Given the description of an element on the screen output the (x, y) to click on. 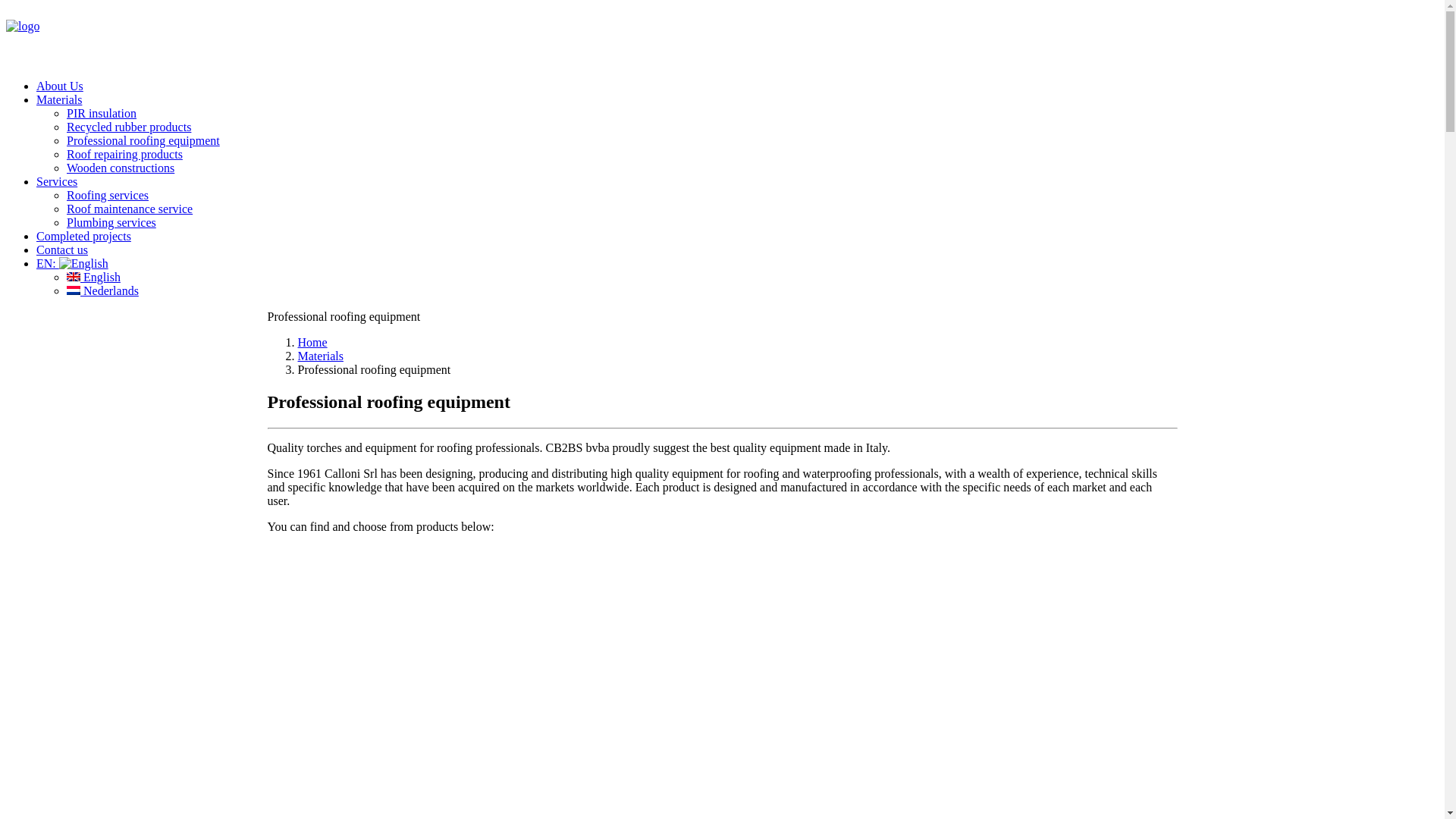
Roofing services Element type: text (107, 194)
 Nederlands Element type: text (102, 290)
About Us Element type: text (59, 85)
Contact us Element type: text (61, 249)
PIR insulation Element type: text (101, 112)
Professional roofing equipment Element type: text (142, 140)
Home Element type: text (311, 341)
EN:  Element type: text (72, 263)
Completed projects Element type: text (83, 235)
Roof repairing products Element type: text (124, 153)
 English Element type: text (93, 276)
Roof maintenance service Element type: text (129, 208)
Materials Element type: text (58, 99)
Plumbing services Element type: text (111, 222)
Services Element type: text (56, 181)
Materials Element type: text (319, 355)
Recycled rubber products Element type: text (128, 126)
Wooden constructions Element type: text (120, 167)
